Given the description of an element on the screen output the (x, y) to click on. 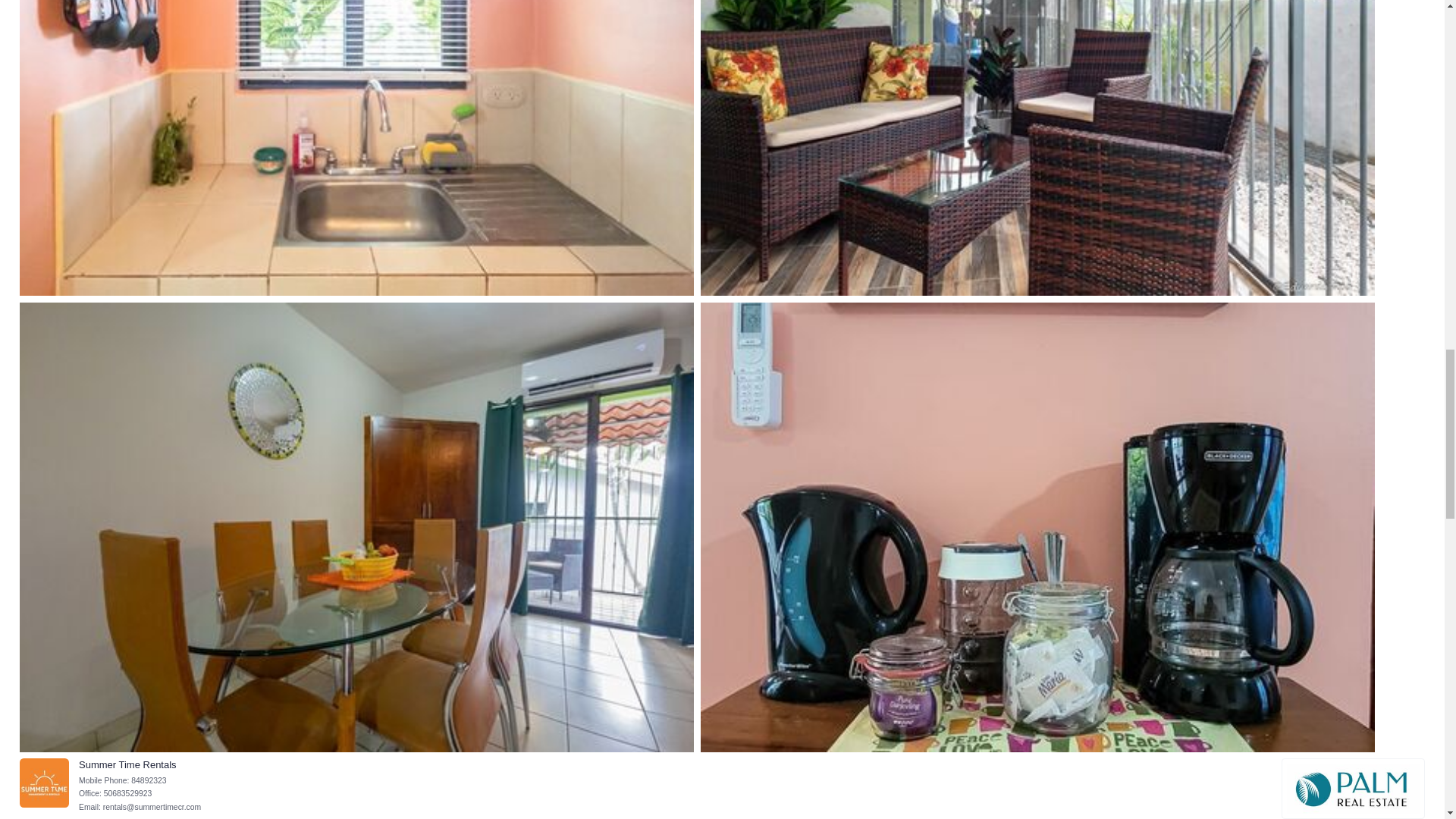
Palm Real Estate (1352, 789)
Summer Time Rentals (44, 782)
